Given the description of an element on the screen output the (x, y) to click on. 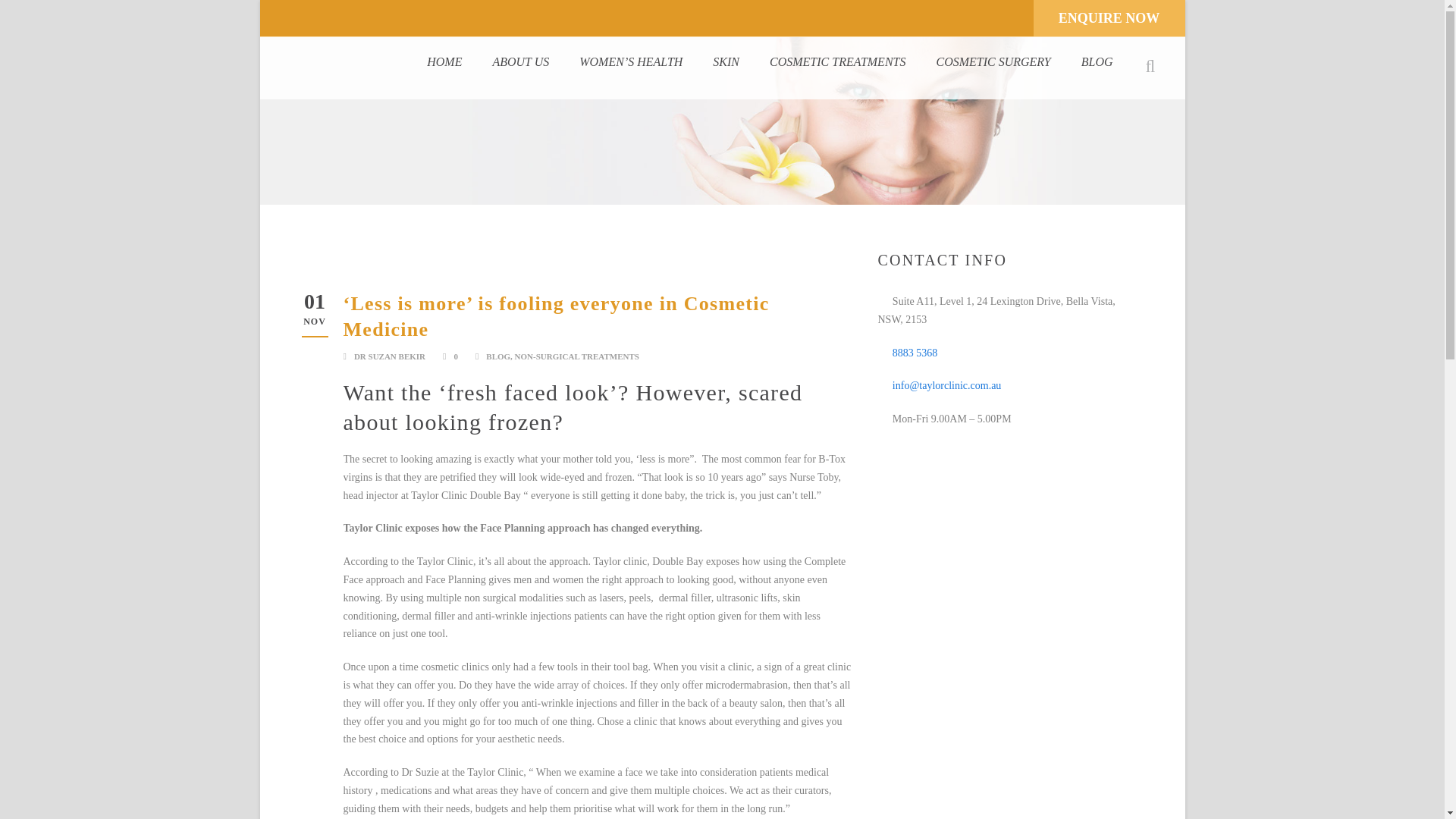
Posts by Dr Suzan Bekir (389, 356)
ENQUIRE NOW (1108, 18)
0288835368 (1084, 21)
